Given the description of an element on the screen output the (x, y) to click on. 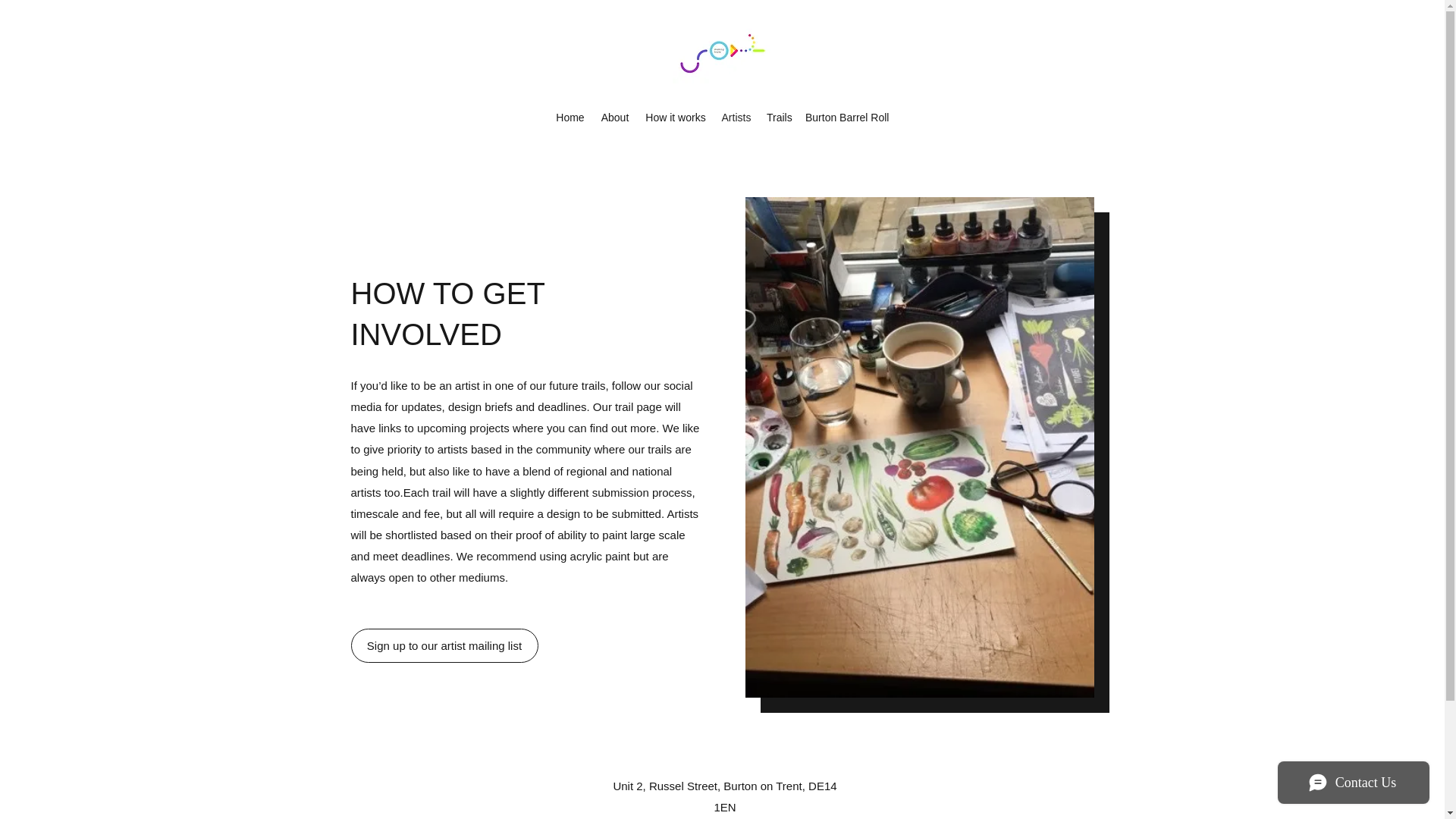
How it works (675, 117)
Artists (735, 117)
About (614, 117)
Sign up to our artist mailing list (443, 645)
Home (570, 117)
Burton Barrel Roll (846, 117)
Trails (777, 117)
